Given the description of an element on the screen output the (x, y) to click on. 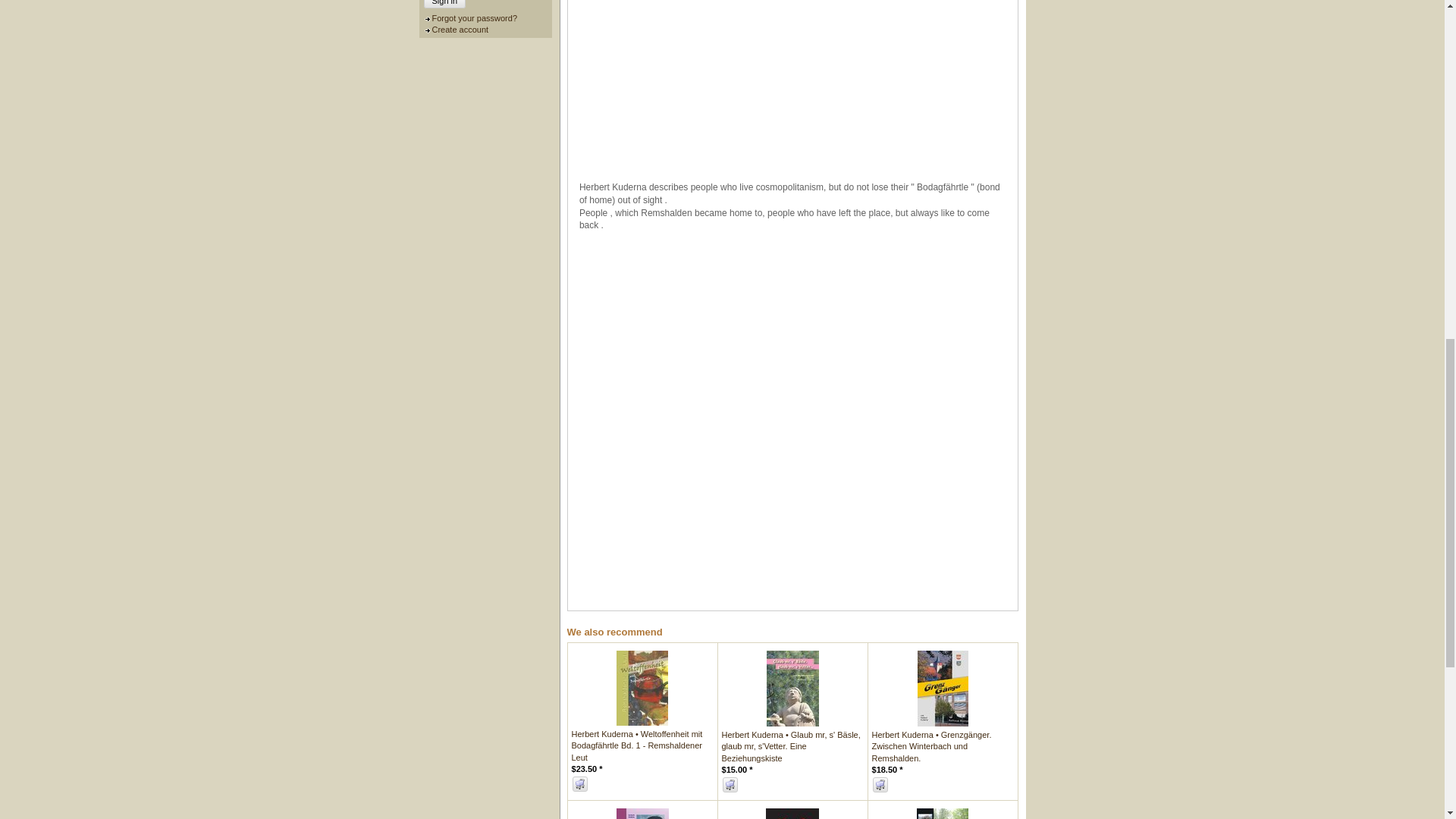
Go to product (791, 746)
Go to product (942, 687)
Add to basket (729, 784)
Go to product (641, 686)
Go to product (791, 687)
Go to product (637, 745)
Add to basket (579, 783)
